Given the description of an element on the screen output the (x, y) to click on. 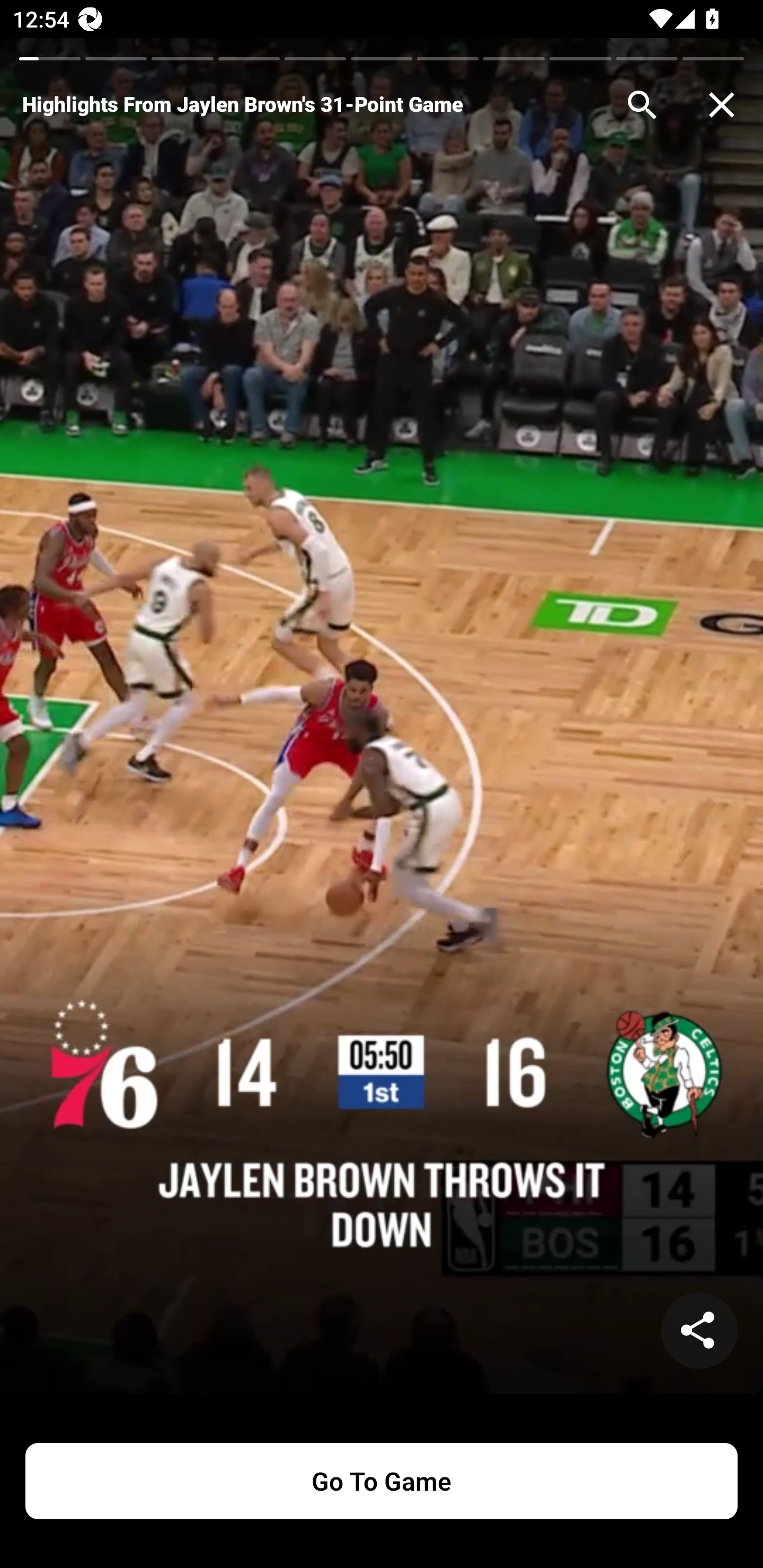
search (642, 104)
close (721, 104)
share (699, 1330)
Go To Game (381, 1480)
